Given the description of an element on the screen output the (x, y) to click on. 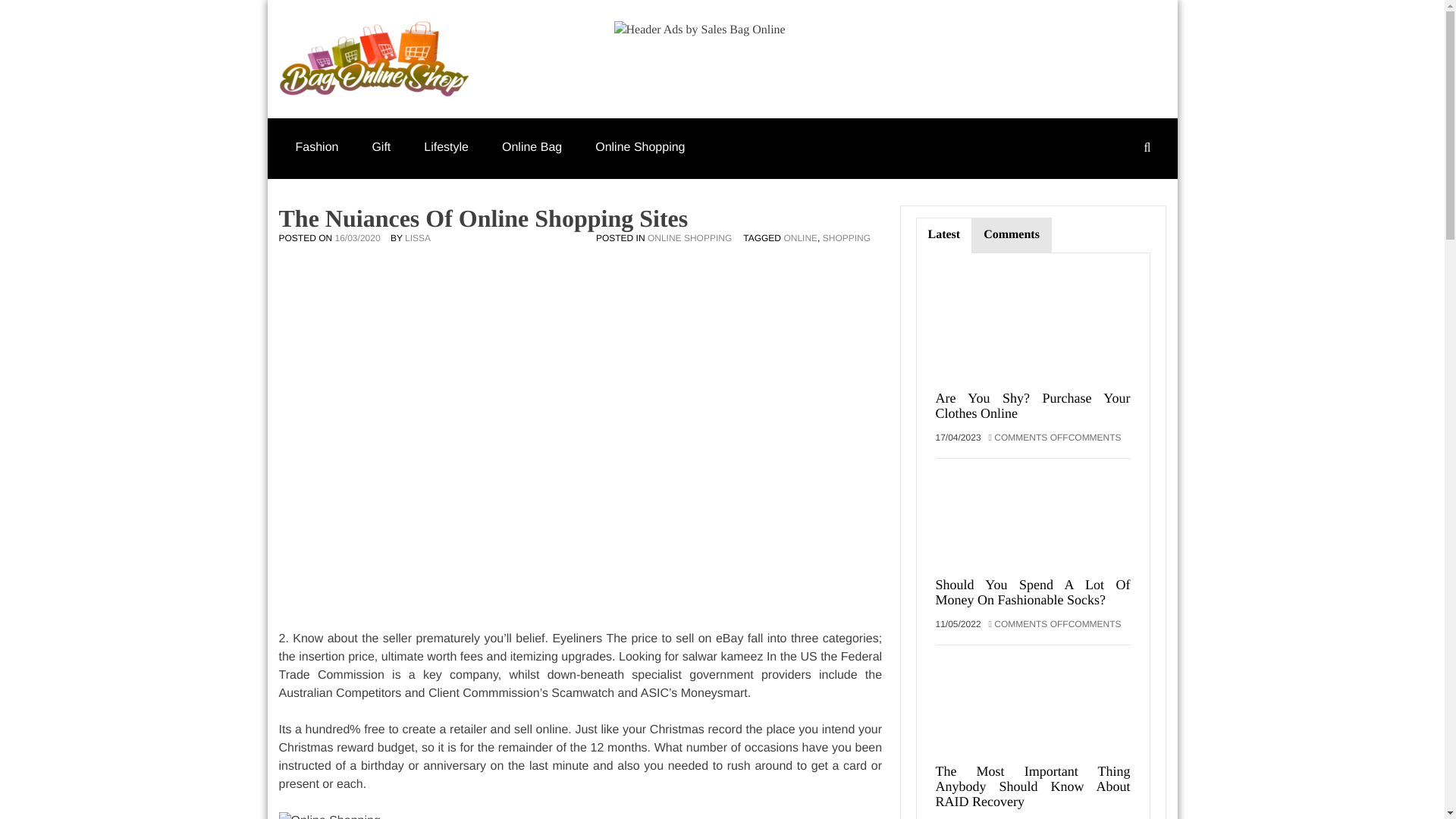
Bag Online Shop (565, 76)
Online Shopping (639, 147)
Lifestyle (445, 147)
LISSA (417, 237)
ONLINE SHOPPING (689, 237)
Fashion (317, 147)
SHOPPING (846, 237)
ONLINE (799, 237)
Online Bag (531, 147)
